Given the description of an element on the screen output the (x, y) to click on. 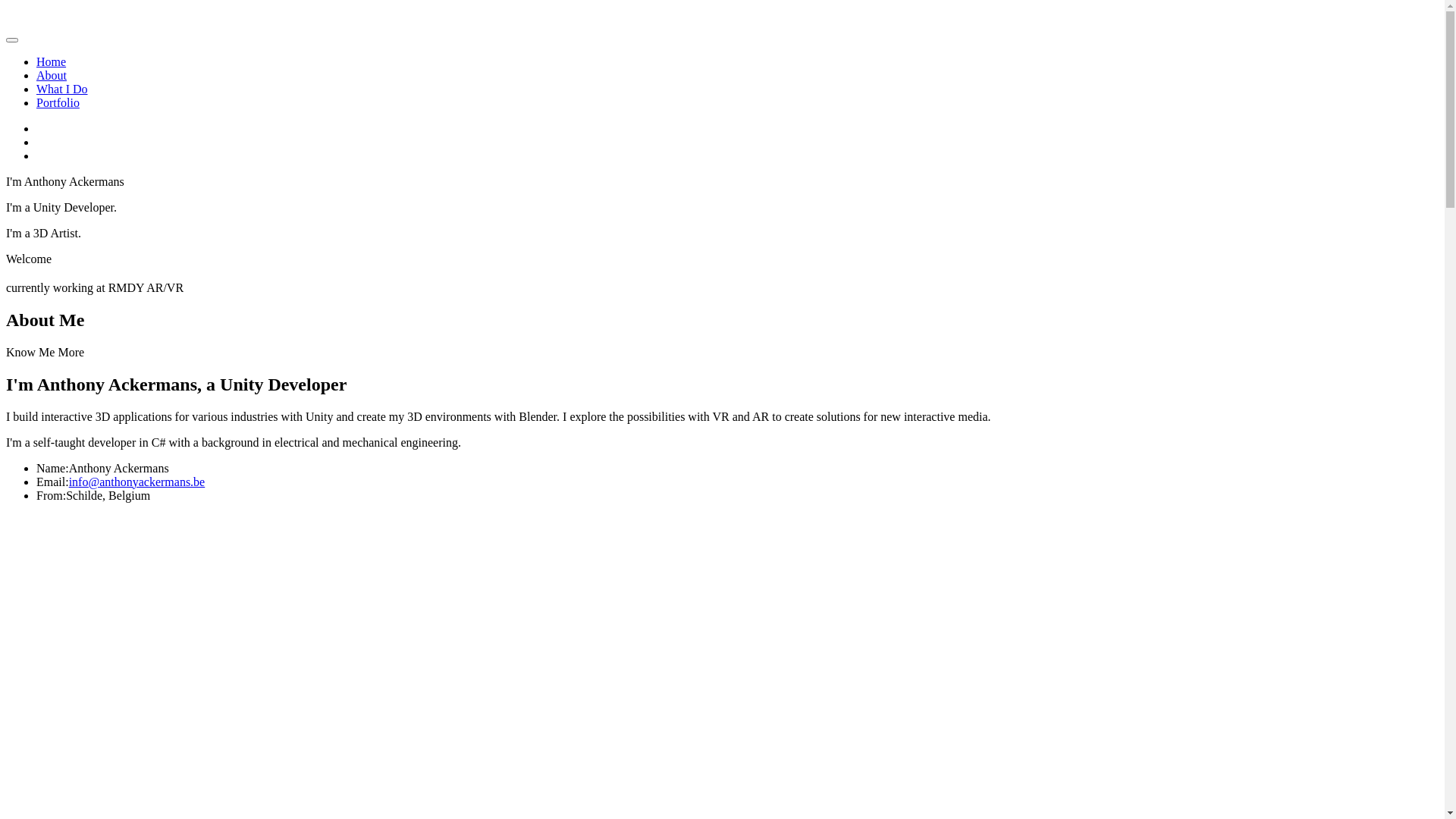
Simone Element type: hover (131, 21)
What I Do Element type: text (61, 88)
Home Element type: text (50, 61)
Portfolio Element type: text (57, 102)
info@anthonyackermans.be Element type: text (137, 481)
About Element type: text (51, 75)
